Given the description of an element on the screen output the (x, y) to click on. 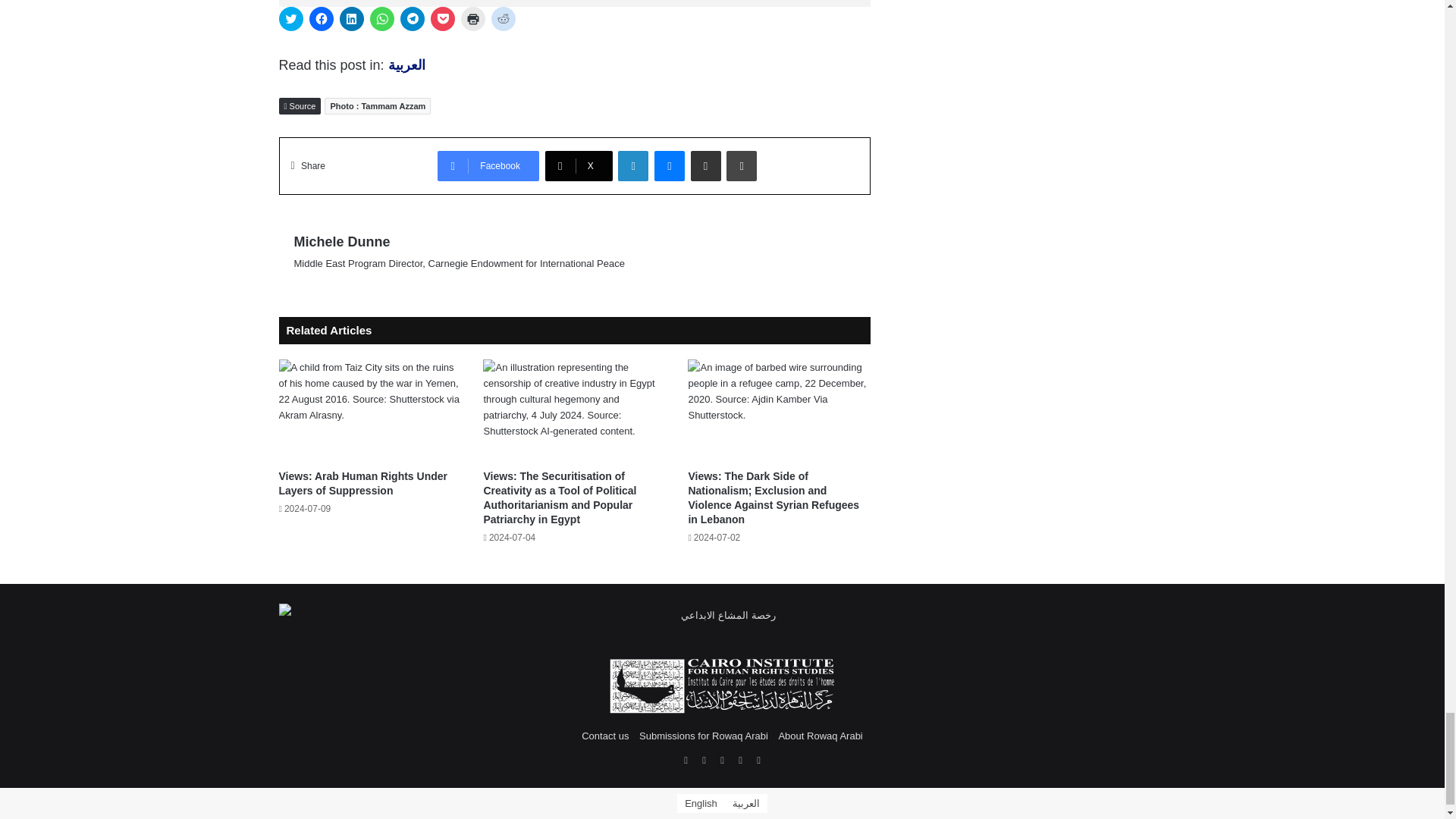
Click to share on LinkedIn (351, 18)
Click to share on Reddit (503, 18)
Click to share on Twitter (290, 18)
X (578, 165)
Facebook (488, 165)
Click to share on Telegram (412, 18)
Click to print (472, 18)
Click to share on Pocket (442, 18)
Click to share on Facebook (320, 18)
Click to share on WhatsApp (381, 18)
